Given the description of an element on the screen output the (x, y) to click on. 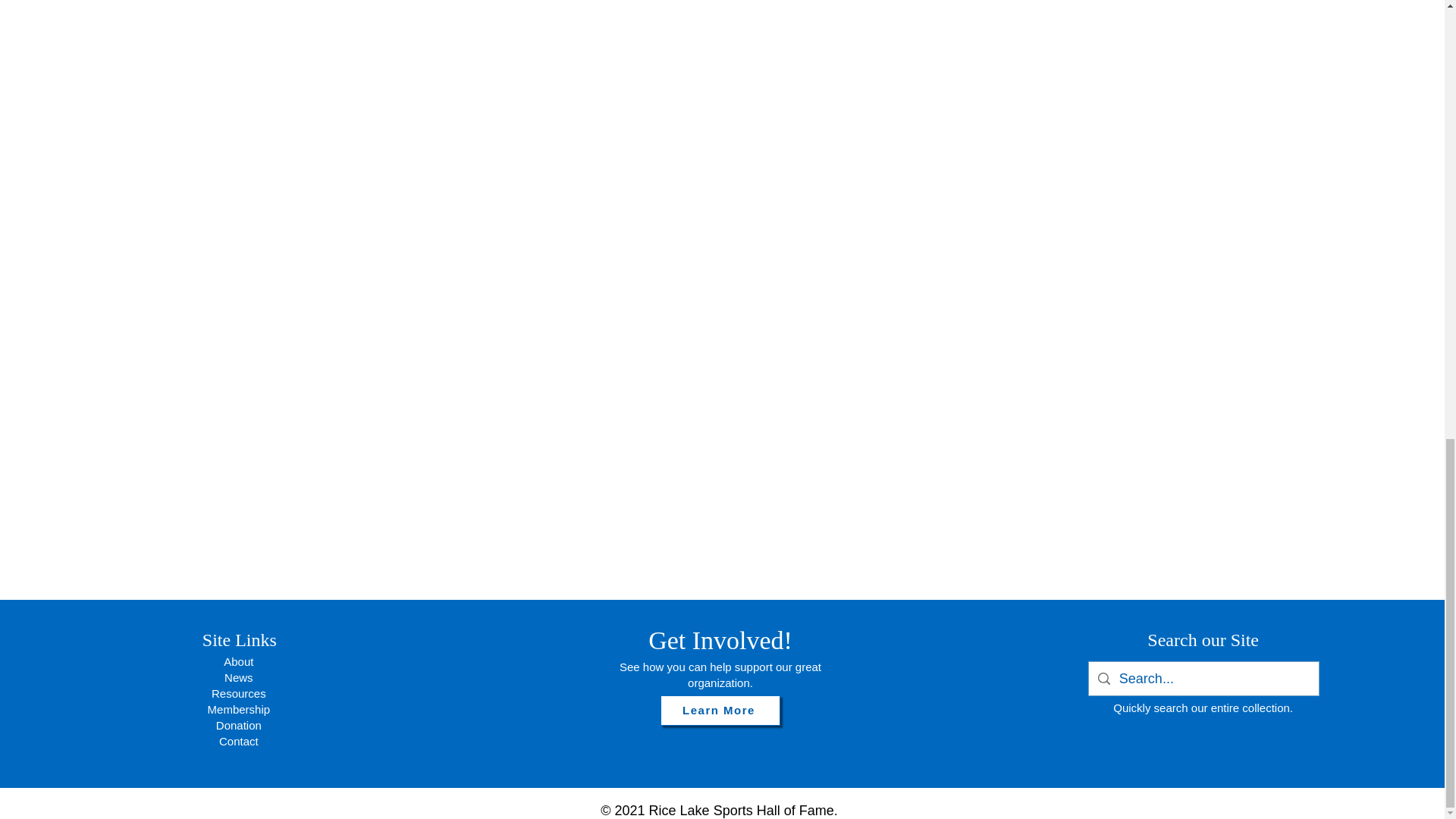
Membership (239, 708)
Resources (238, 693)
News (238, 676)
About (238, 661)
Donation (238, 725)
Learn More (720, 710)
Contact (239, 740)
